Given the description of an element on the screen output the (x, y) to click on. 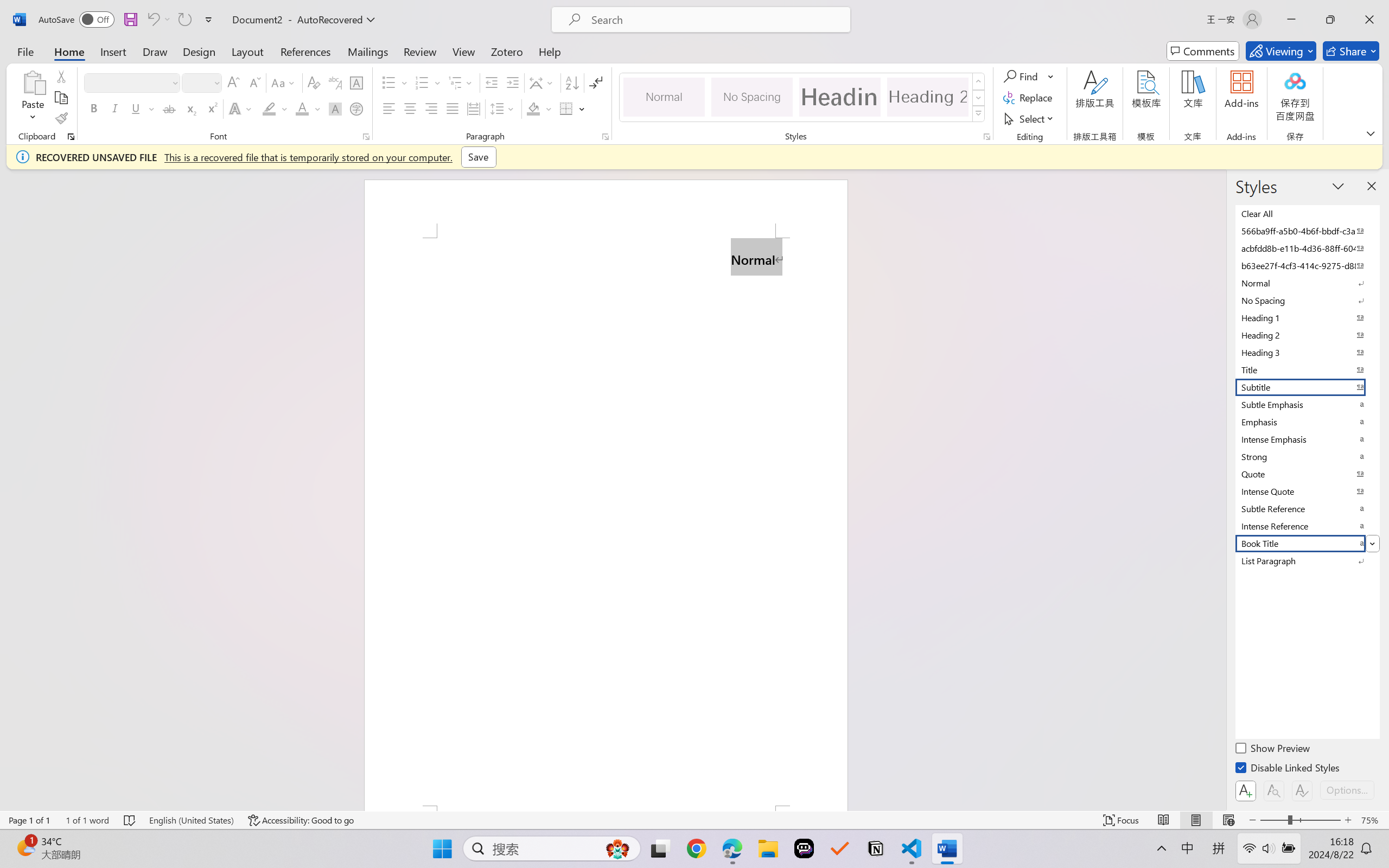
Styles (978, 113)
Heading 1 (839, 96)
Class: MsoCommandBar (694, 819)
Open (215, 82)
Intense Quote (1306, 490)
Book Title (1306, 543)
Shading RGB(0, 0, 0) (533, 108)
